Given the description of an element on the screen output the (x, y) to click on. 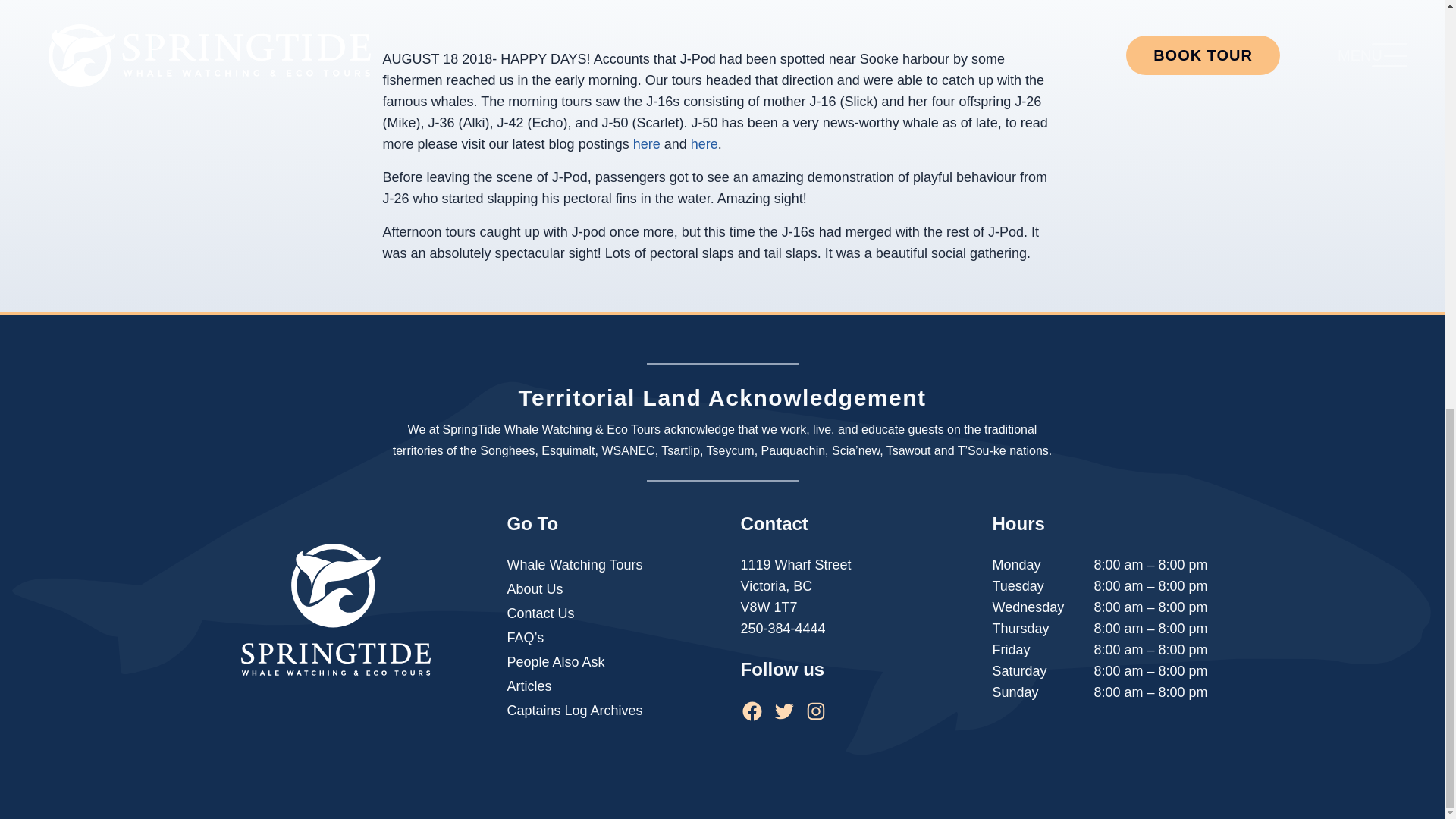
People Also Ask (555, 661)
here (703, 143)
Contact Us (539, 613)
About Us (534, 588)
Articles (528, 685)
Instagram (815, 711)
here (647, 143)
Twitter (782, 711)
Captains Log Archives (574, 710)
Whale Watching Tours (574, 564)
